Given the description of an element on the screen output the (x, y) to click on. 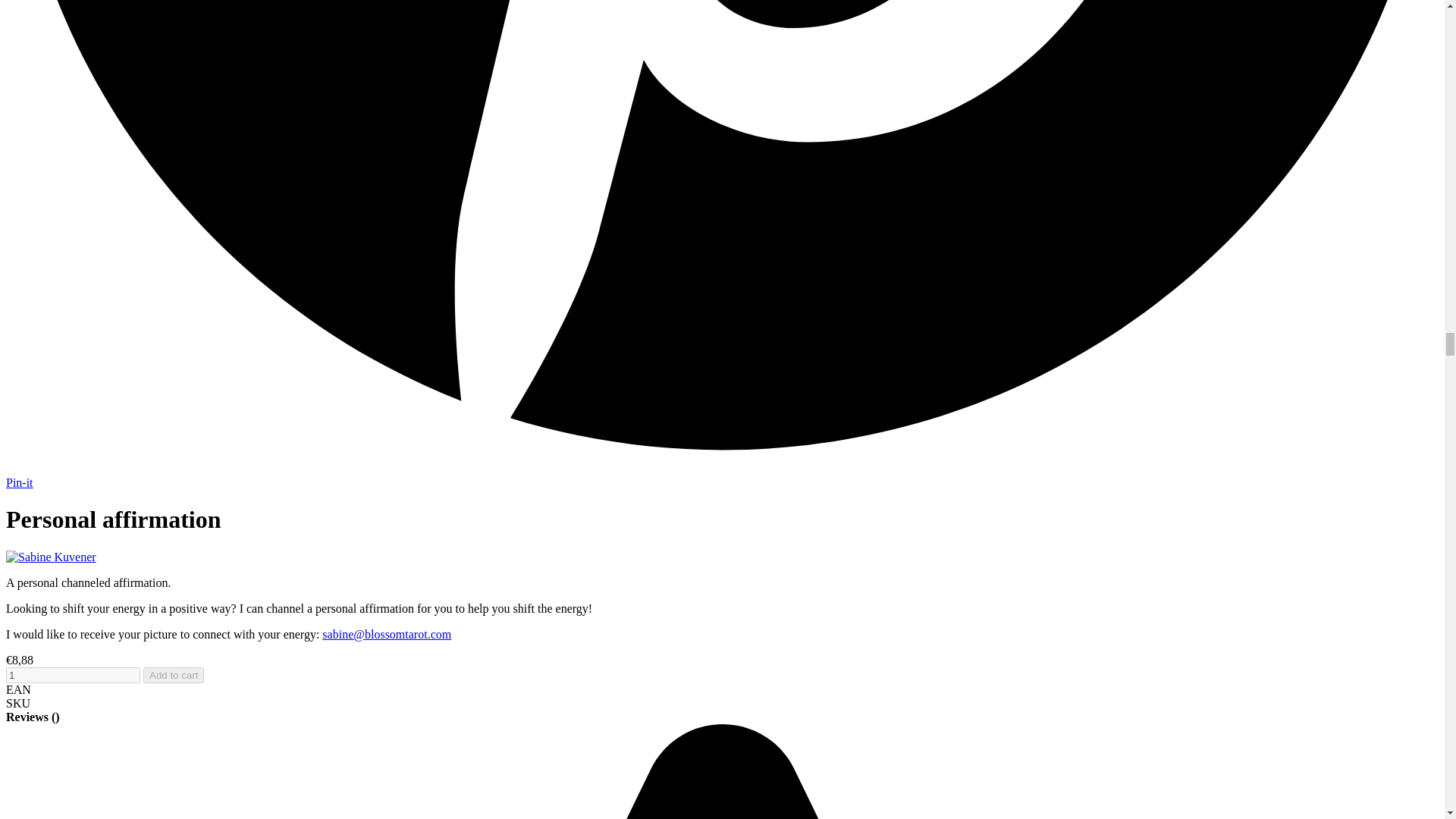
Sabine Kuvener (50, 556)
Sabine Kuvener (50, 557)
1 (72, 675)
